Given the description of an element on the screen output the (x, y) to click on. 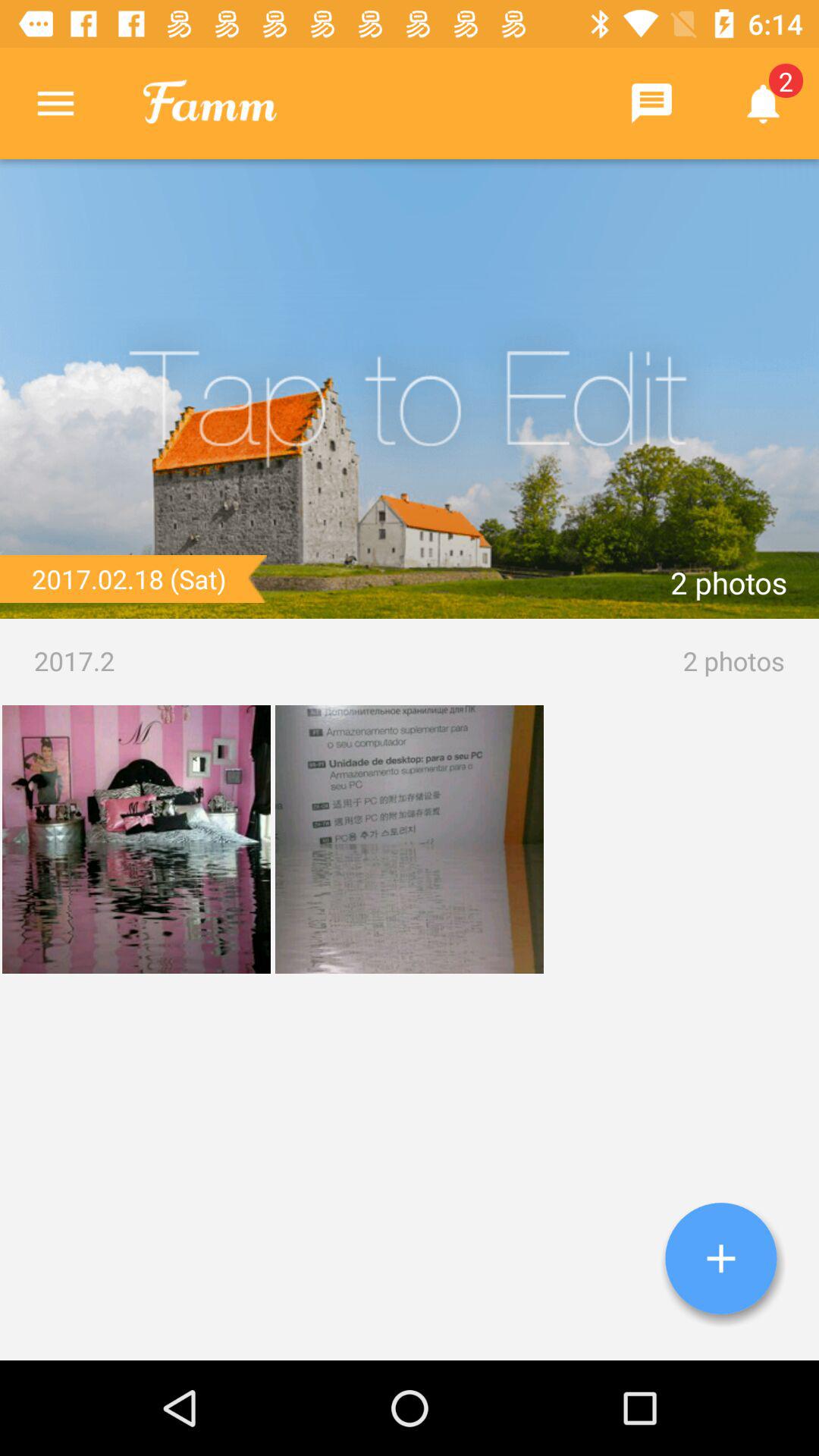
add project (721, 1258)
